Given the description of an element on the screen output the (x, y) to click on. 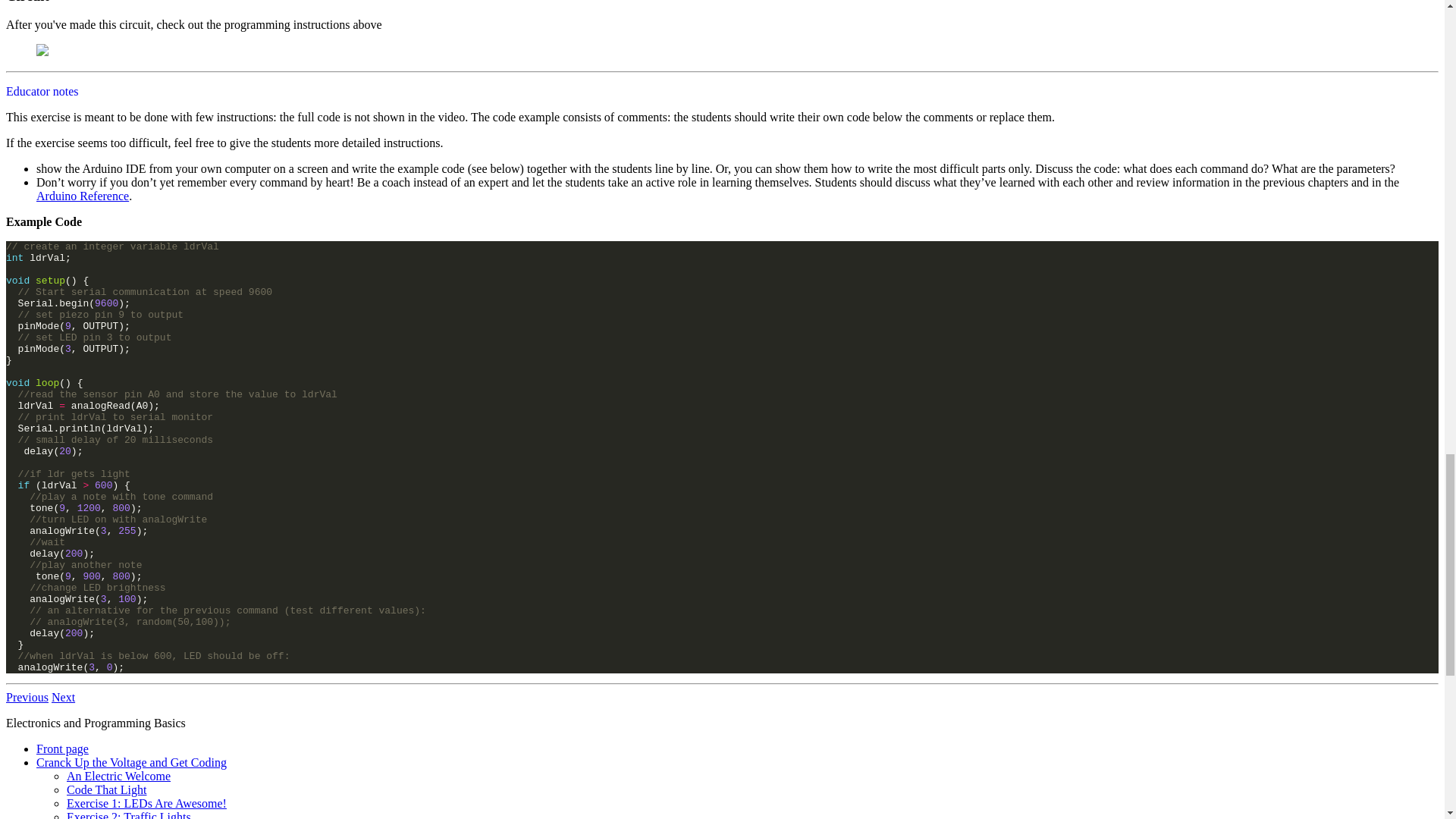
Previous (26, 697)
Arduino Reference (82, 195)
